Given the description of an element on the screen output the (x, y) to click on. 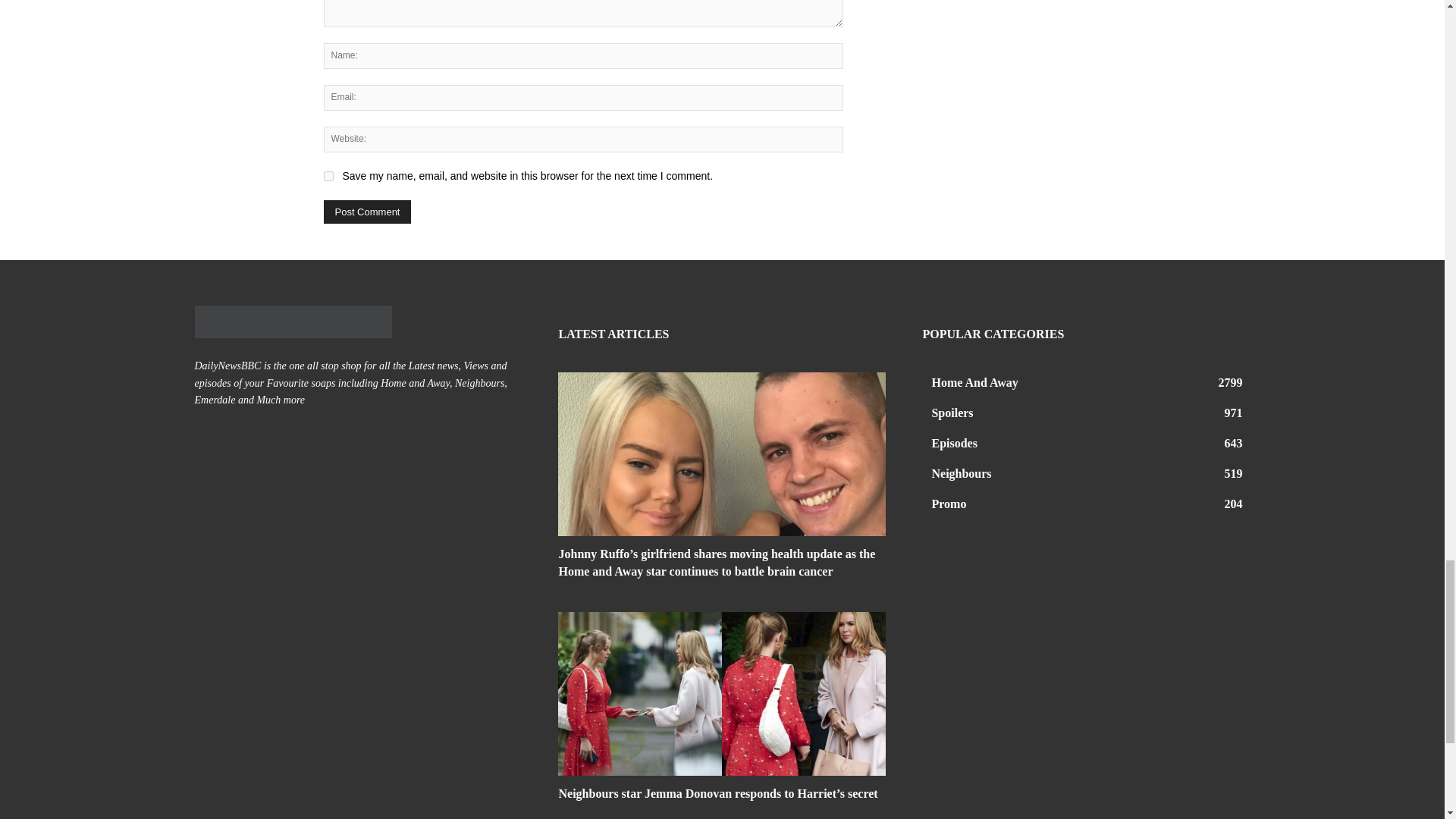
yes (328, 175)
Post Comment (366, 211)
